Given the description of an element on the screen output the (x, y) to click on. 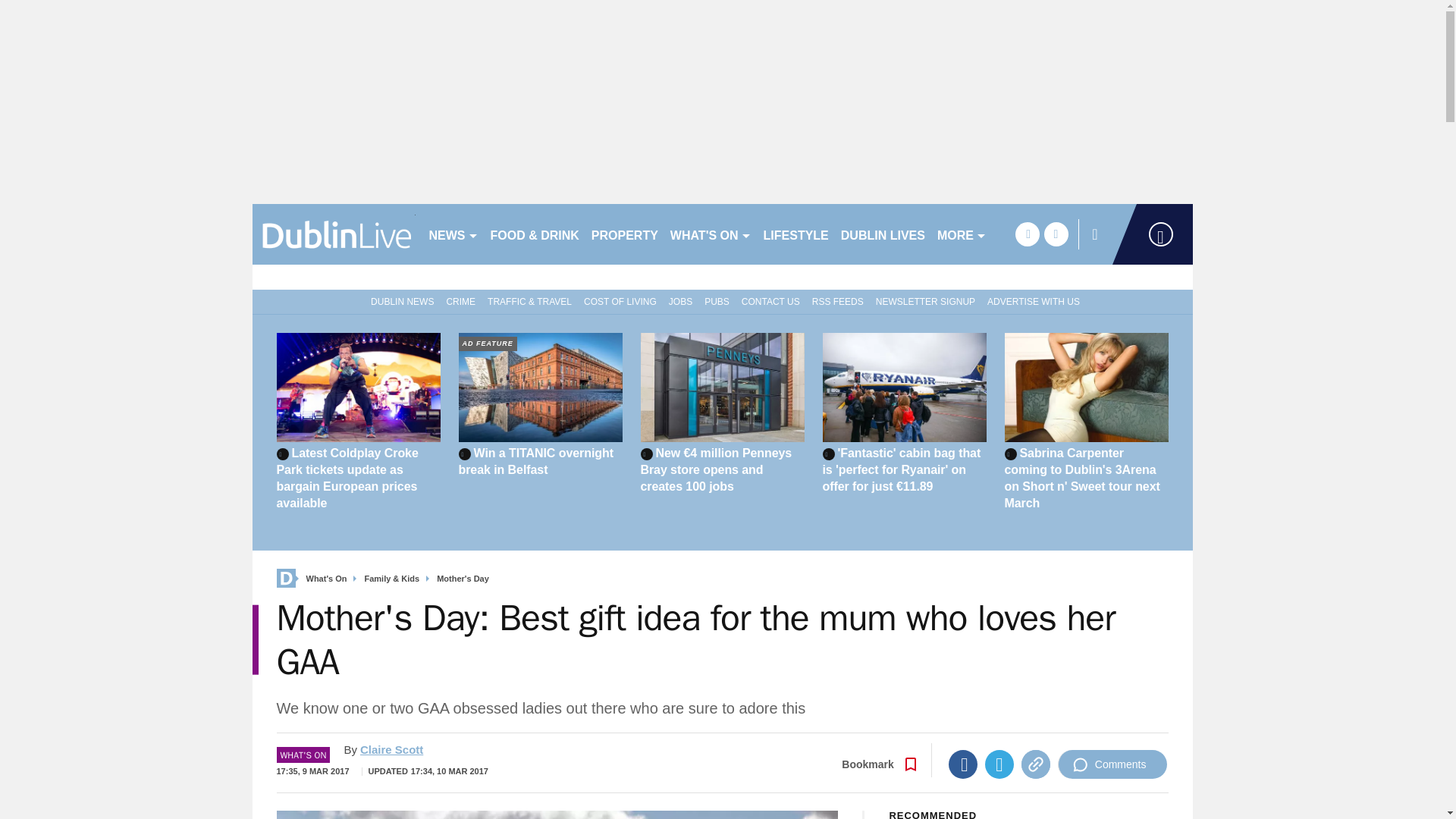
DUBLIN LIVES (882, 233)
LIFESTYLE (795, 233)
dublinlive (332, 233)
Comments (1112, 764)
Facebook (962, 764)
twitter (1055, 233)
facebook (1026, 233)
WHAT'S ON (710, 233)
Twitter (999, 764)
PROPERTY (624, 233)
MORE (961, 233)
NEWS (453, 233)
